Given the description of an element on the screen output the (x, y) to click on. 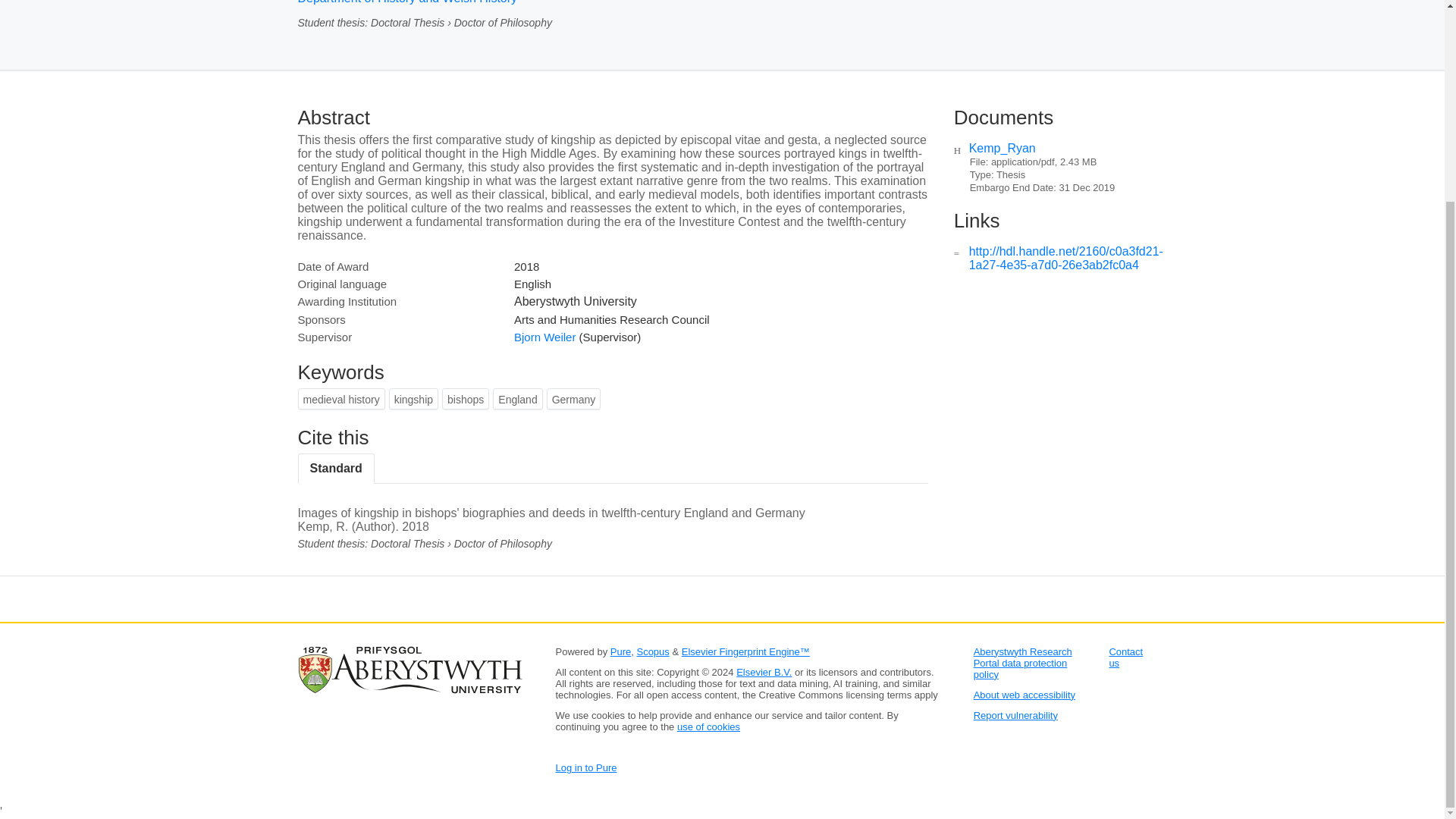
Contact us (1125, 657)
Department of History and Welsh History (406, 2)
use of cookies (708, 726)
Report vulnerability (1016, 715)
Pure (620, 651)
Log in to Pure (584, 767)
Scopus (652, 651)
Elsevier B.V. (764, 672)
Aberystwyth Research Portal data protection policy (1022, 663)
Bjorn Weiler (544, 336)
About web accessibility (1024, 695)
